Given the description of an element on the screen output the (x, y) to click on. 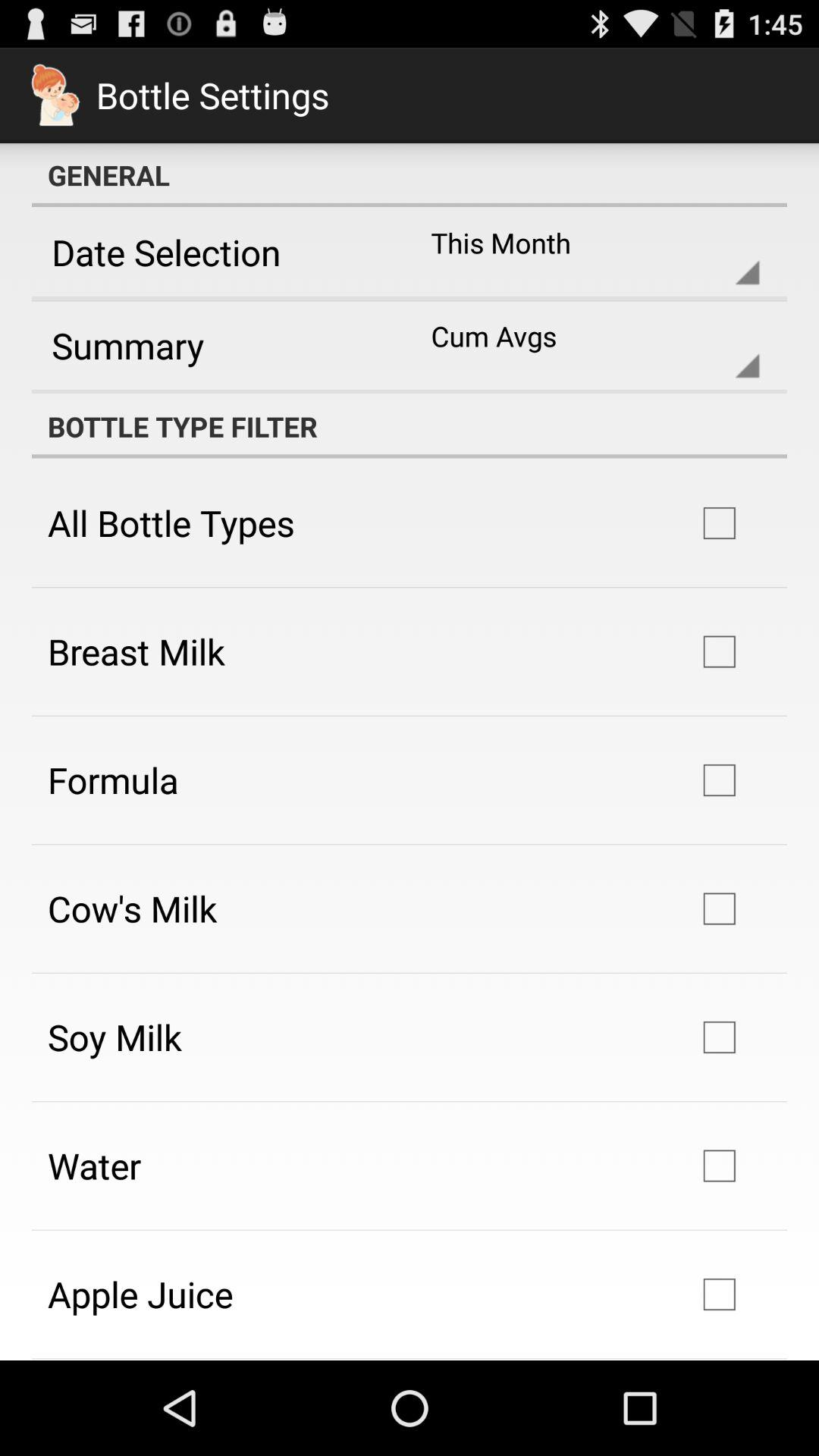
flip until summary item (215, 345)
